Given the description of an element on the screen output the (x, y) to click on. 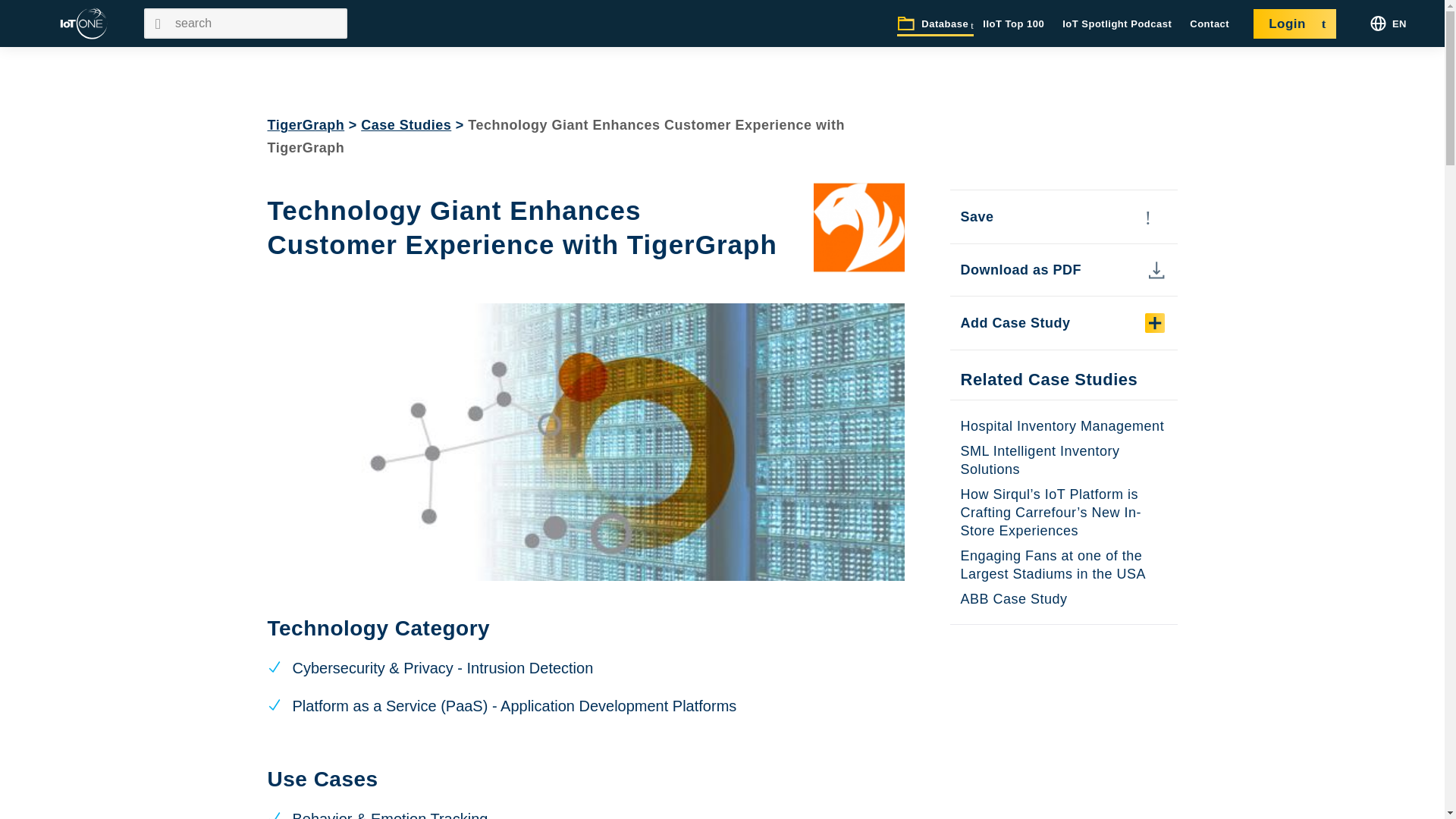
ABB Case Study (1013, 598)
TigerGraph Logo (858, 226)
SML Intelligent Inventory Solutions (1039, 459)
IoT Spotlight Podcast (1117, 23)
Contact (1209, 23)
IIoT Top 100 (1013, 23)
Hospital Inventory Management (1061, 426)
Case Studies (406, 124)
Engaging Fans at one of the Largest Stadiums in the USA (1052, 564)
